Given the description of an element on the screen output the (x, y) to click on. 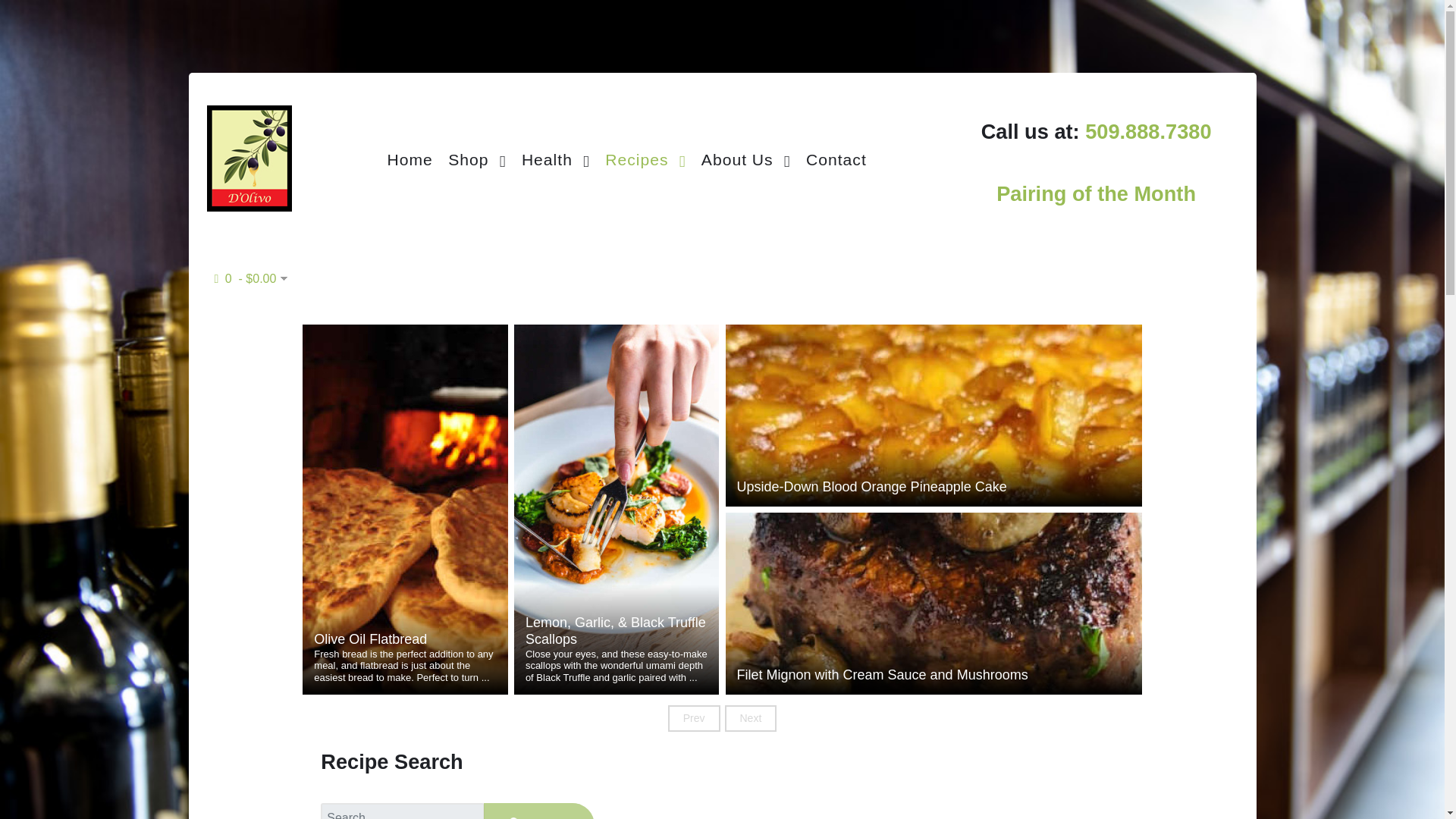
Filet Mignon with Cream Sauce and Mushrooms (933, 675)
Upside-Down Blood Orange Pineapple Cake (933, 487)
Next (751, 718)
Home (409, 158)
Search (538, 811)
Shop (477, 158)
509.888.7380 (1147, 146)
Contact (835, 158)
Contact (835, 158)
Pairing of the Month (1095, 193)
Prev (694, 718)
Olive Oil Flatbread (405, 639)
